Given the description of an element on the screen output the (x, y) to click on. 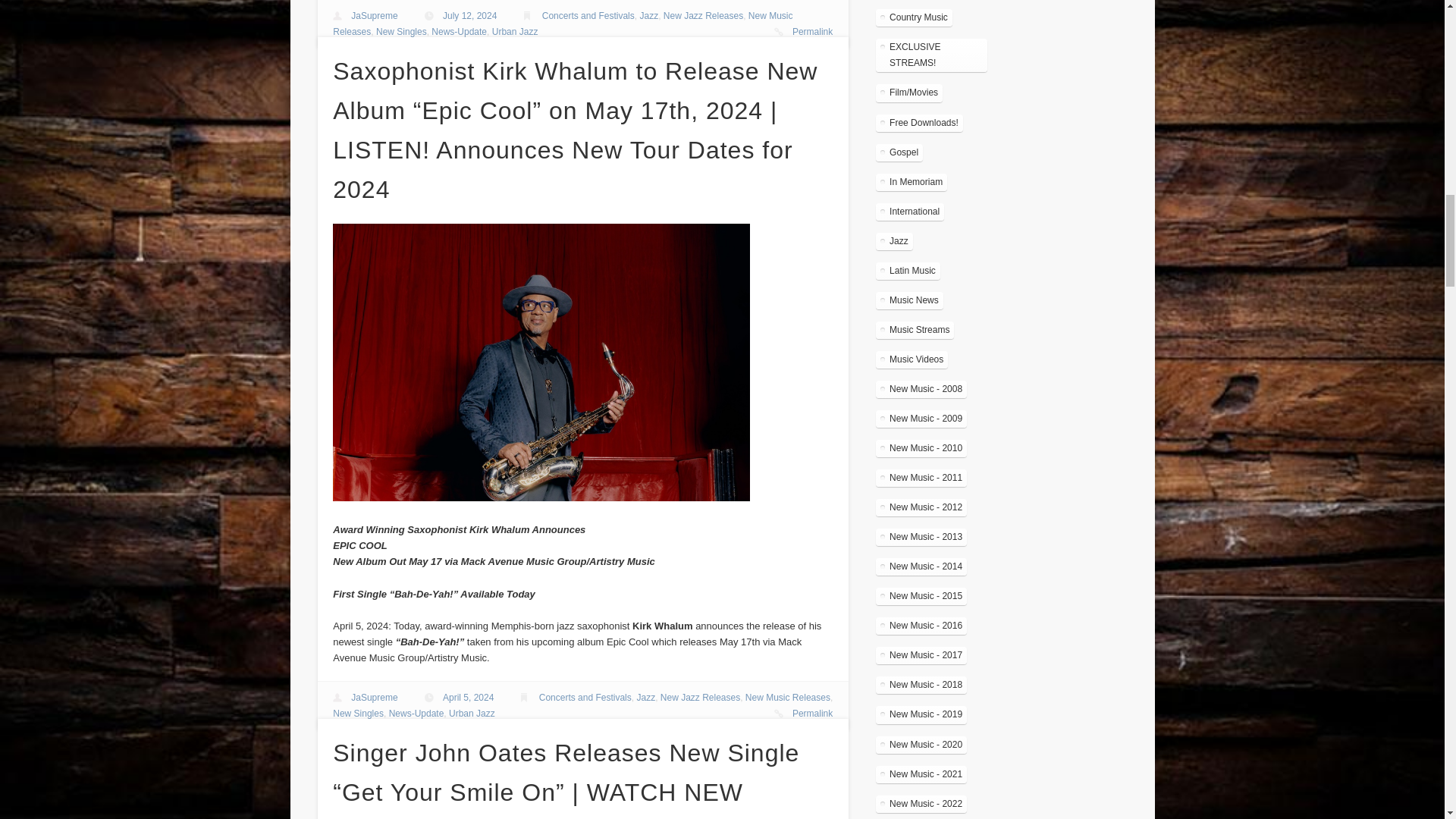
New Jazz Releases (702, 15)
Posts by JaSupreme (373, 15)
Concerts and Festivals (587, 15)
Posts by JaSupreme (373, 697)
Jazz (648, 15)
New Music Releases (562, 23)
July 12, 2024 (469, 15)
JaSupreme (373, 15)
